Given the description of an element on the screen output the (x, y) to click on. 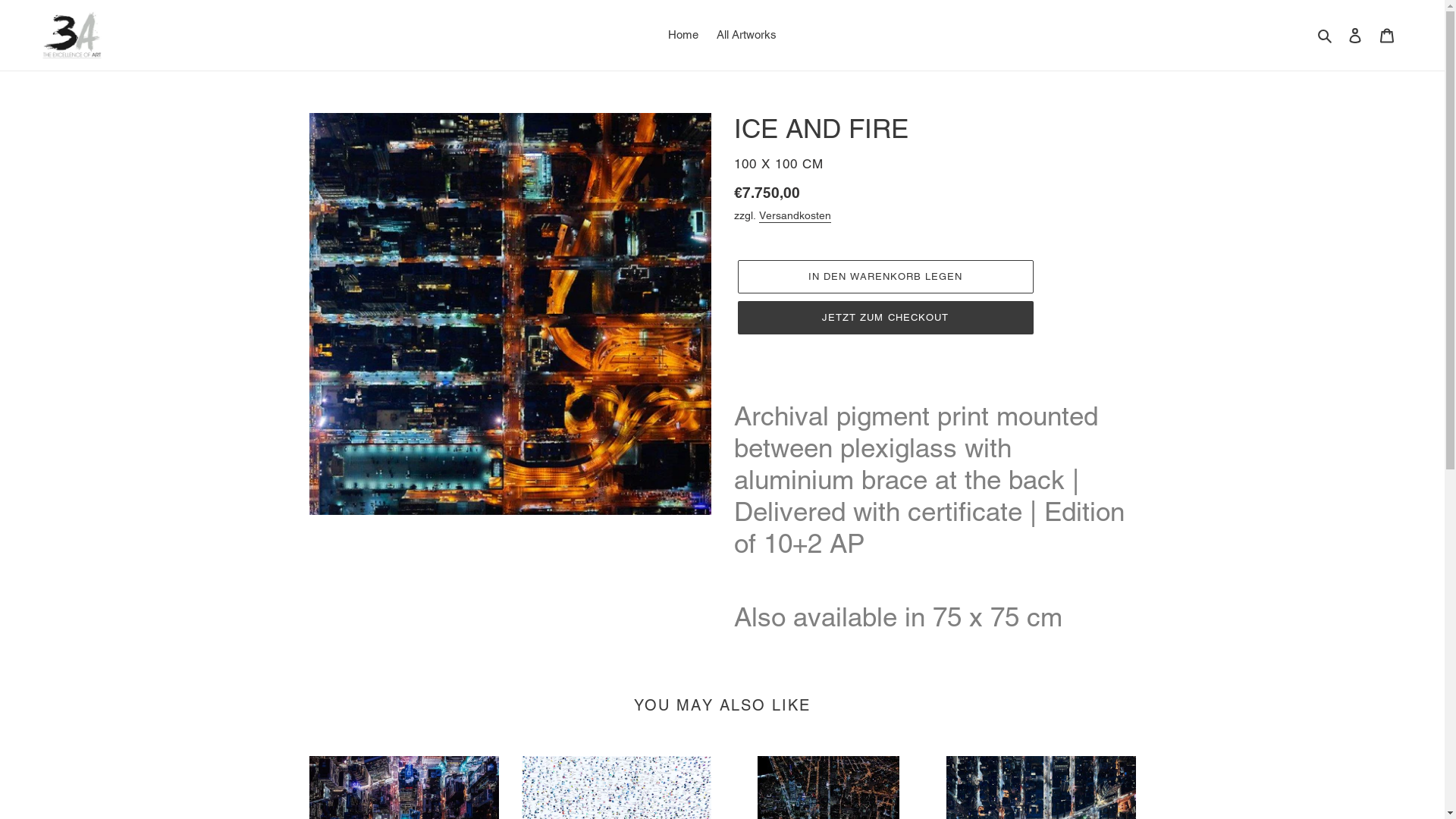
Einloggen Element type: text (1355, 34)
Versandkosten Element type: text (794, 215)
JETZT ZUM CHECKOUT Element type: text (884, 317)
Warenkorb Element type: text (1386, 34)
All Artworks Element type: text (746, 35)
Home Element type: text (683, 35)
Suchen Element type: text (1325, 34)
IN DEN WARENKORB LEGEN Element type: text (884, 276)
